Given the description of an element on the screen output the (x, y) to click on. 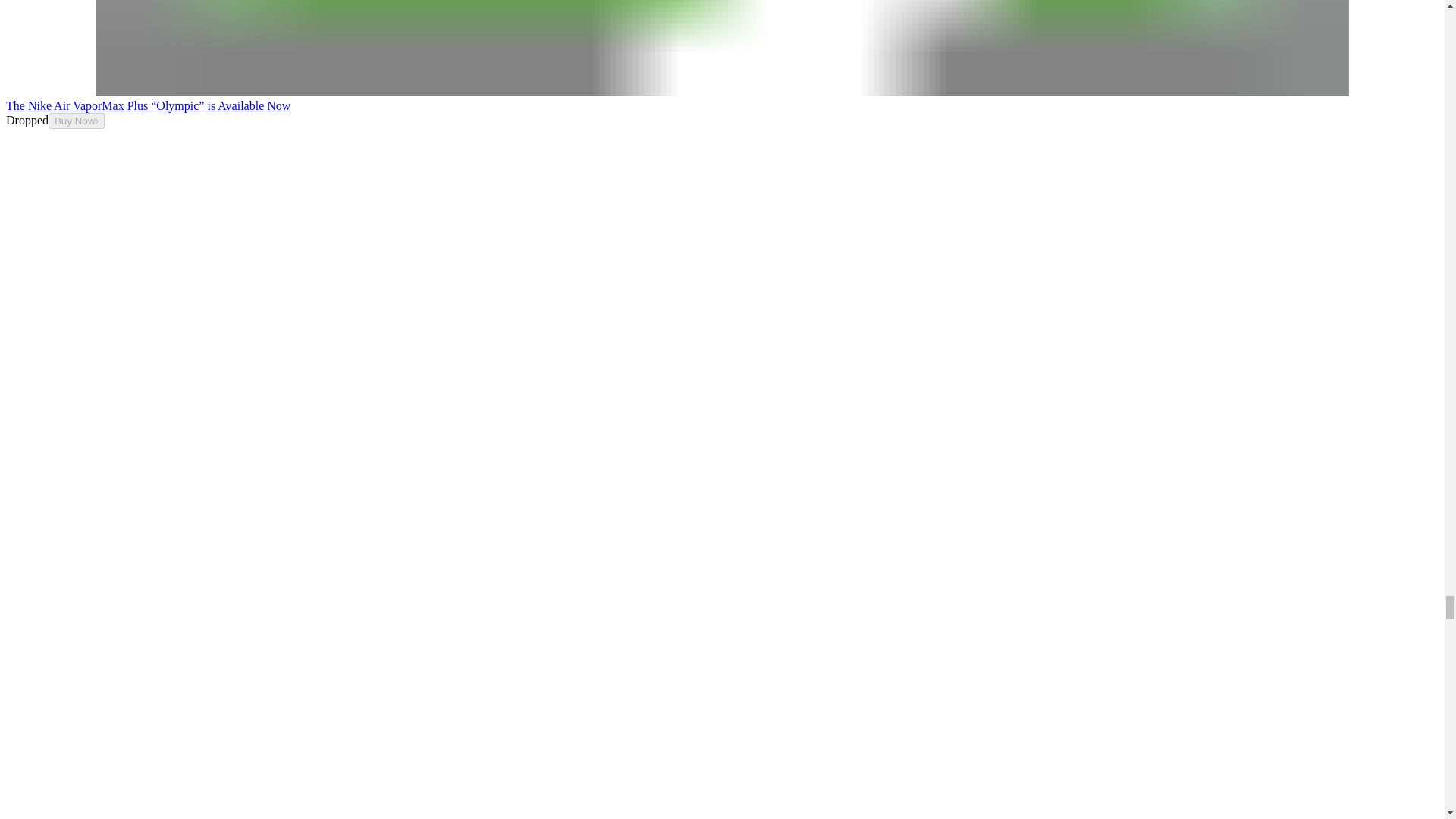
Buy Now (76, 120)
